Given the description of an element on the screen output the (x, y) to click on. 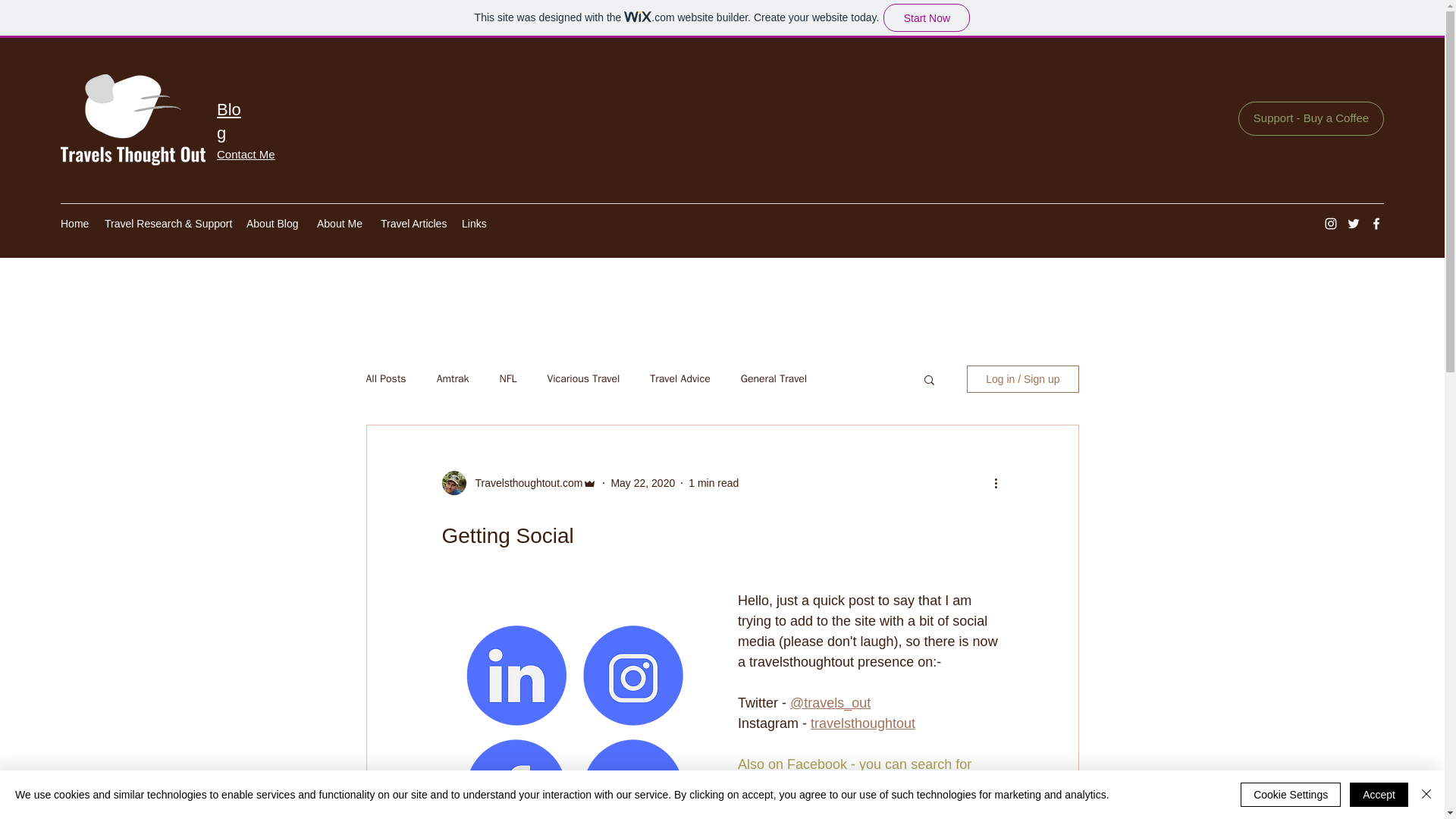
Support - Buy a Coffee (1311, 118)
Travel Advice (679, 378)
Links (473, 223)
Travelsthoughtout.com (523, 483)
About Blog (273, 223)
1 min read (713, 482)
About Me (340, 223)
NFL (507, 378)
May 22, 2020 (642, 482)
General Travel (774, 378)
